Given the description of an element on the screen output the (x, y) to click on. 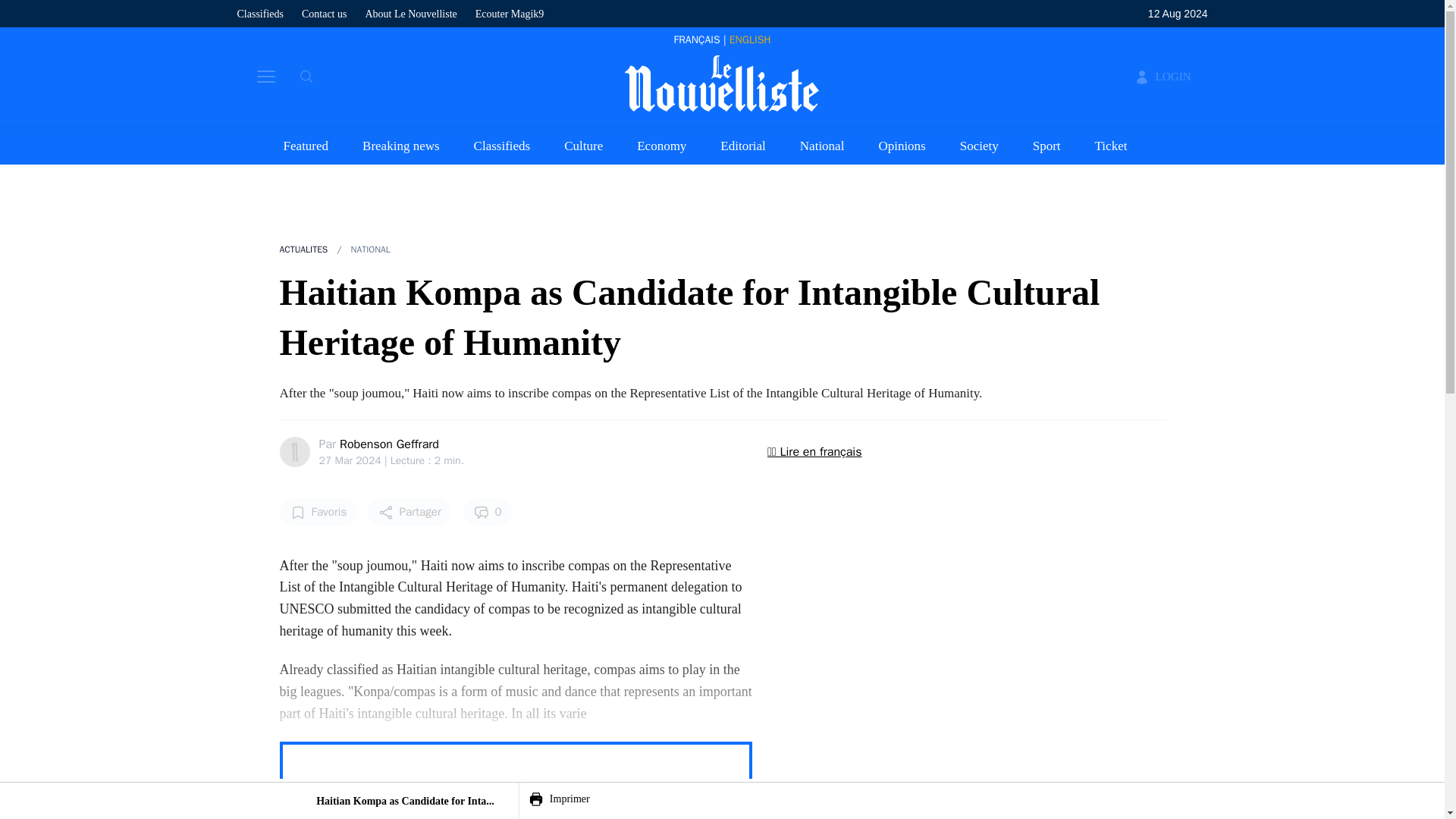
Ecouter Magik9 (510, 13)
Breaking news (400, 145)
ACTUALITES (303, 249)
Culture (583, 145)
About Le Nouvelliste (411, 13)
Featured (306, 145)
Economy (661, 145)
Editorial (742, 145)
Sport (1046, 145)
LOGIN (1162, 76)
